Given the description of an element on the screen output the (x, y) to click on. 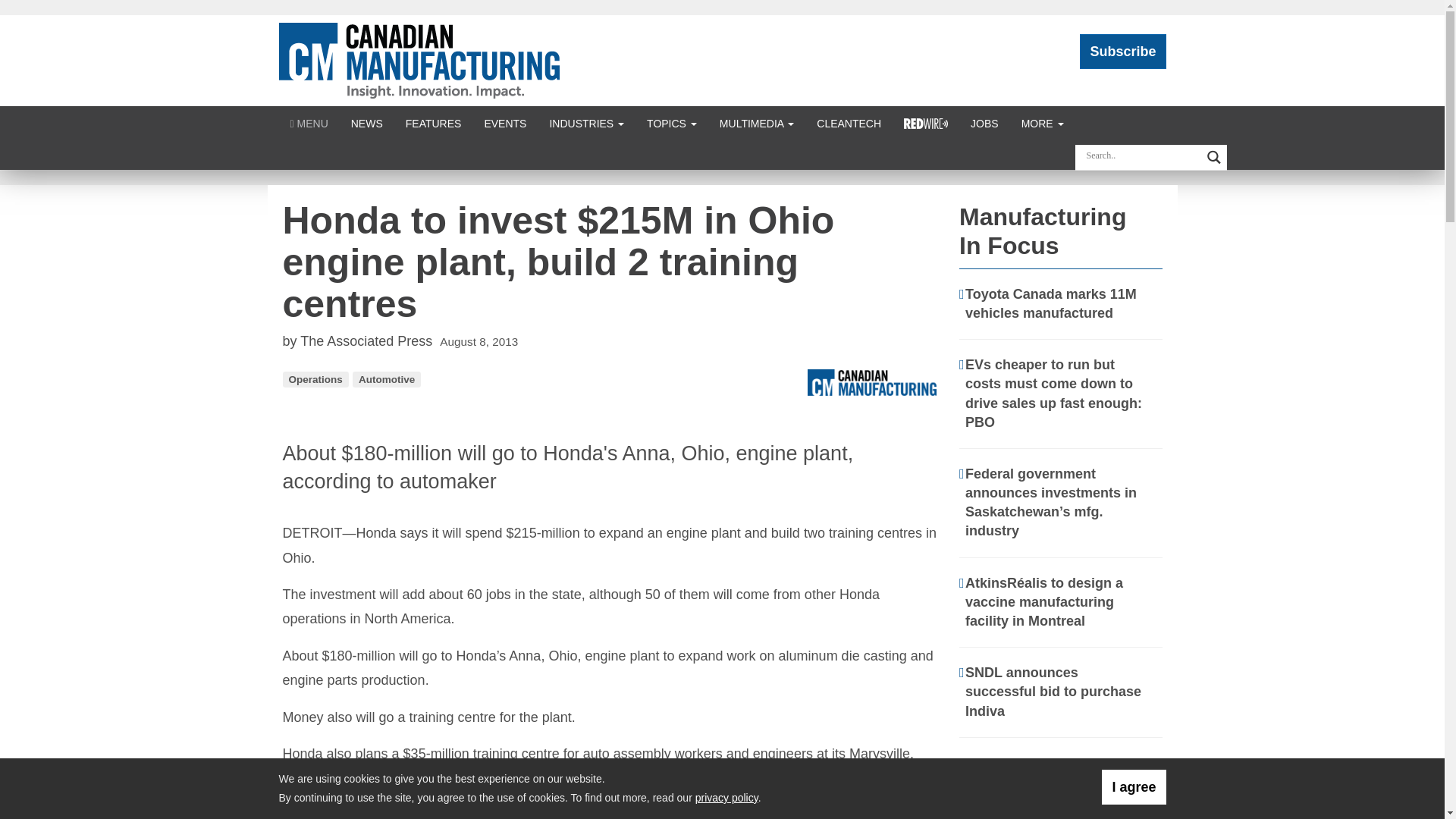
Subscribe (1123, 51)
TOPICS (670, 123)
Click to show site navigation (309, 123)
INDUSTRIES (585, 123)
Canadian Manufacturing (419, 59)
NEWS (366, 123)
MENU (309, 123)
FEATURES (433, 123)
Subscribe (1122, 51)
EVENTS (504, 123)
